Given the description of an element on the screen output the (x, y) to click on. 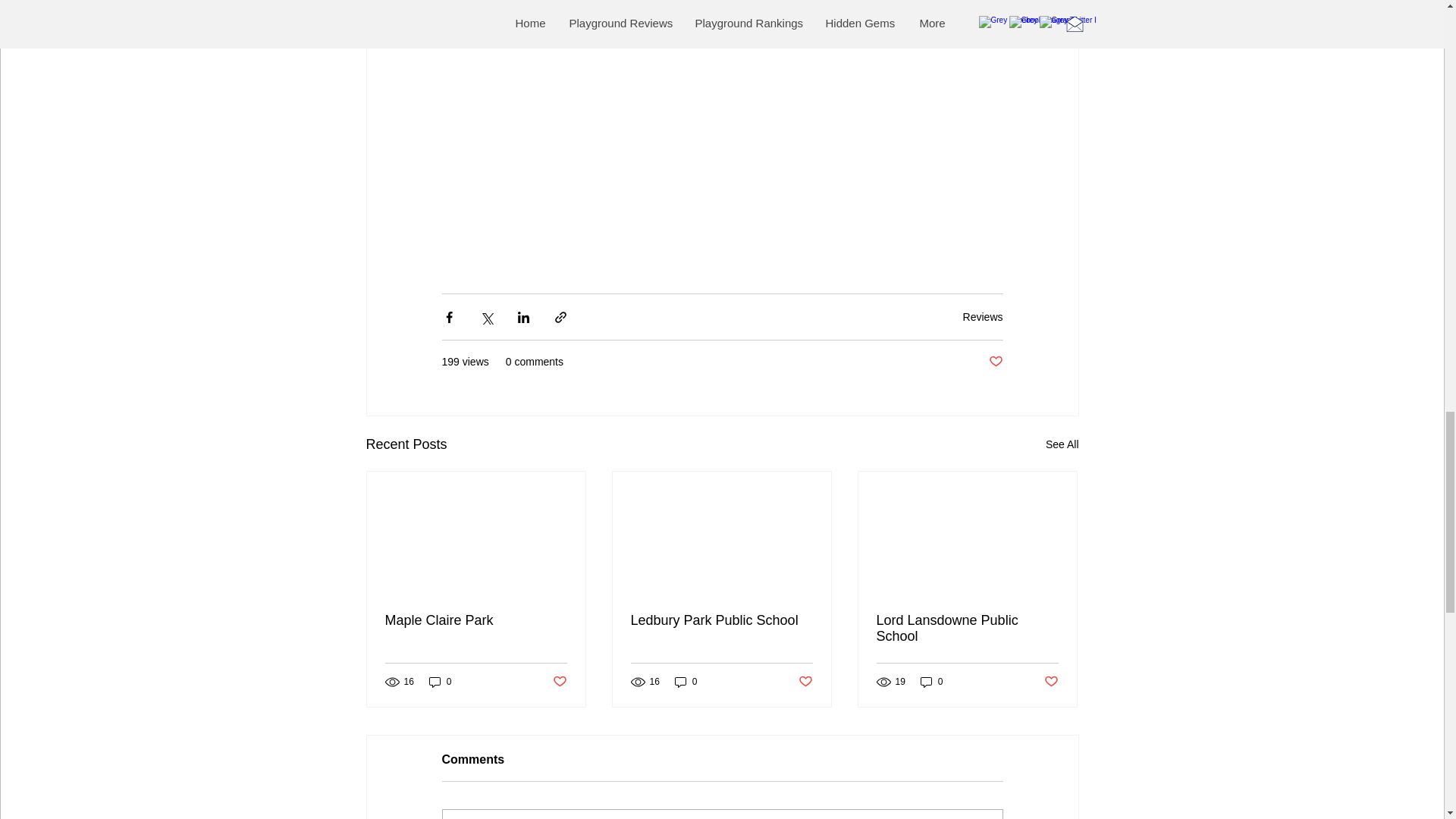
Post not marked as liked (558, 682)
Maple Claire Park (476, 620)
0 (440, 681)
See All (1061, 444)
Reviews (982, 316)
Post not marked as liked (995, 361)
